Given the description of an element on the screen output the (x, y) to click on. 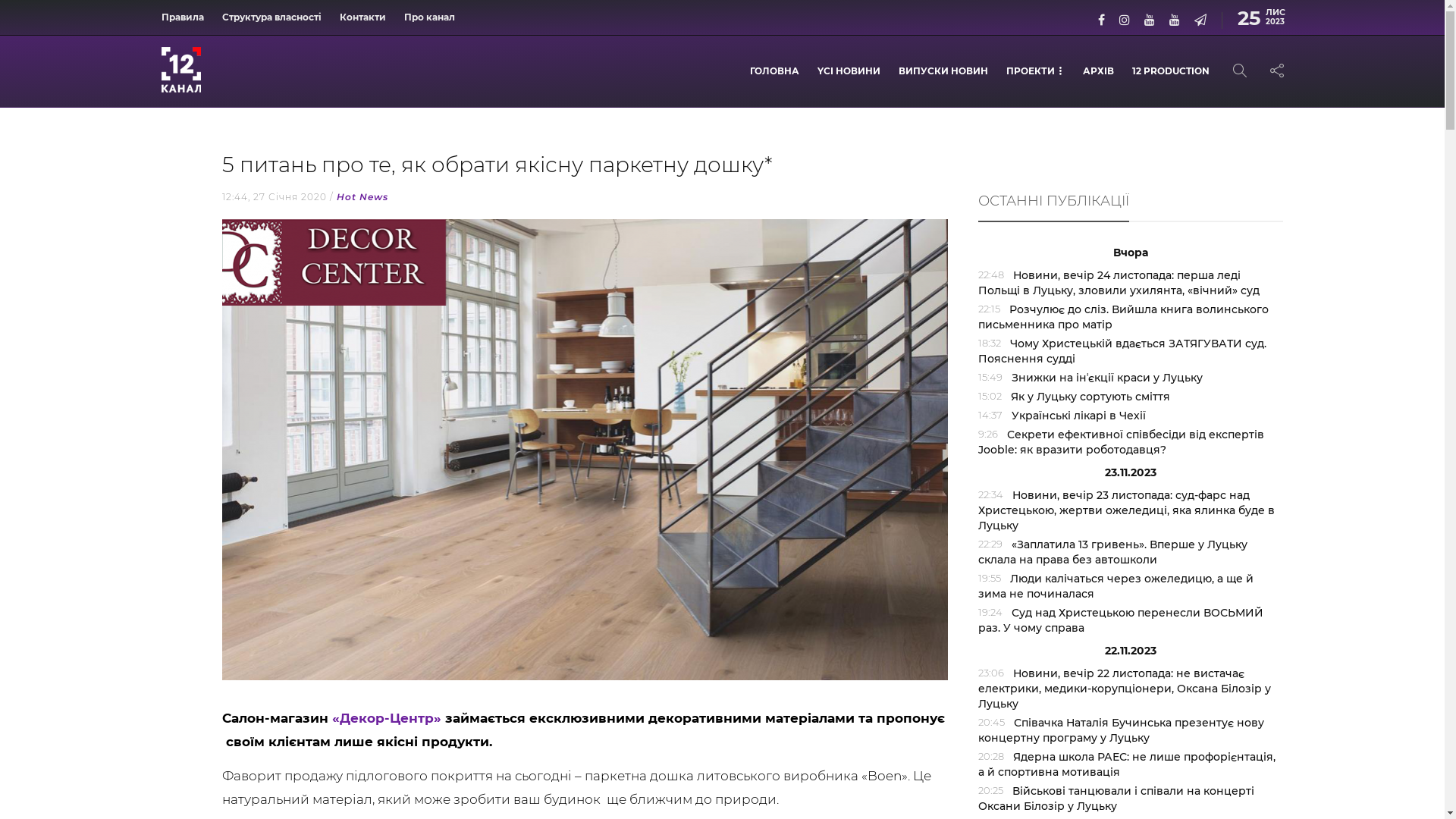
12 PRODUCTION Element type: text (1169, 71)
Hot News Element type: text (362, 196)
